Given the description of an element on the screen output the (x, y) to click on. 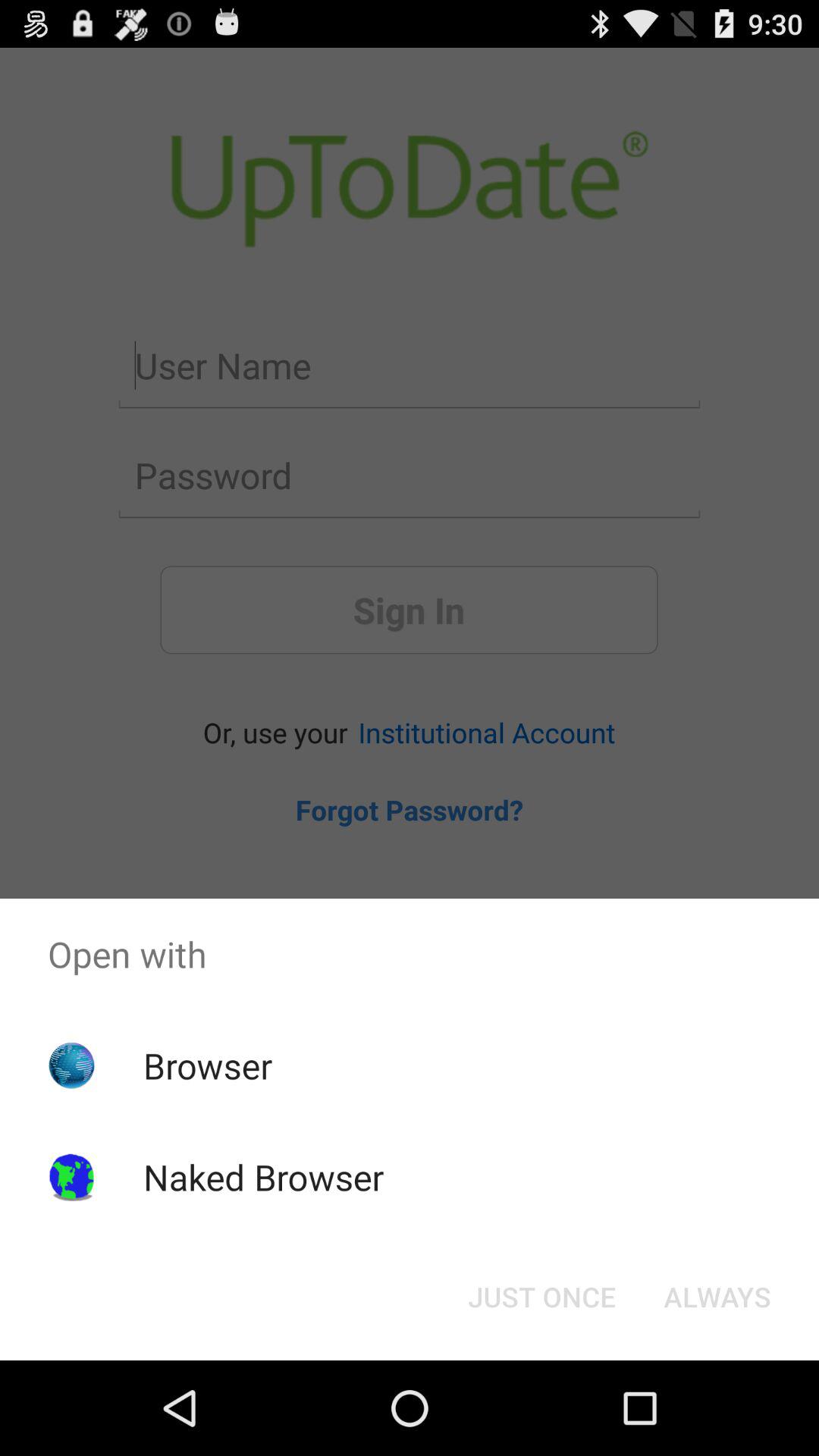
jump to naked browser (263, 1176)
